Given the description of an element on the screen output the (x, y) to click on. 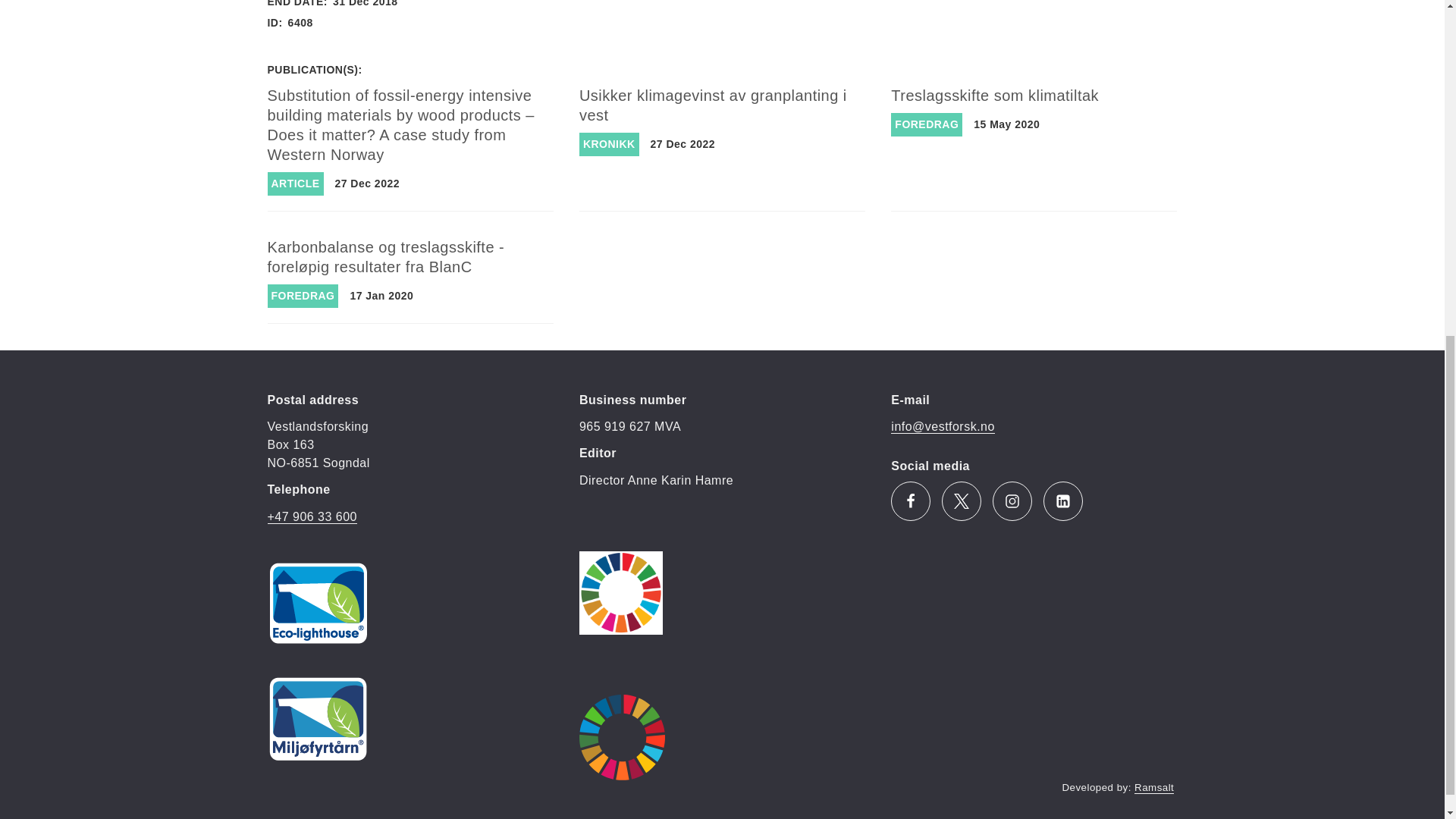
Facebook (910, 500)
Ramsalt (1153, 787)
Usikker klimagevinst av granplanting i vest (713, 104)
Linkedin (1063, 500)
Treslagsskifte som klimatiltak (995, 95)
Miljofyrtarn norsk (317, 718)
Twitter (961, 500)
SDG logo (622, 737)
Instagram (1012, 500)
